Given the description of an element on the screen output the (x, y) to click on. 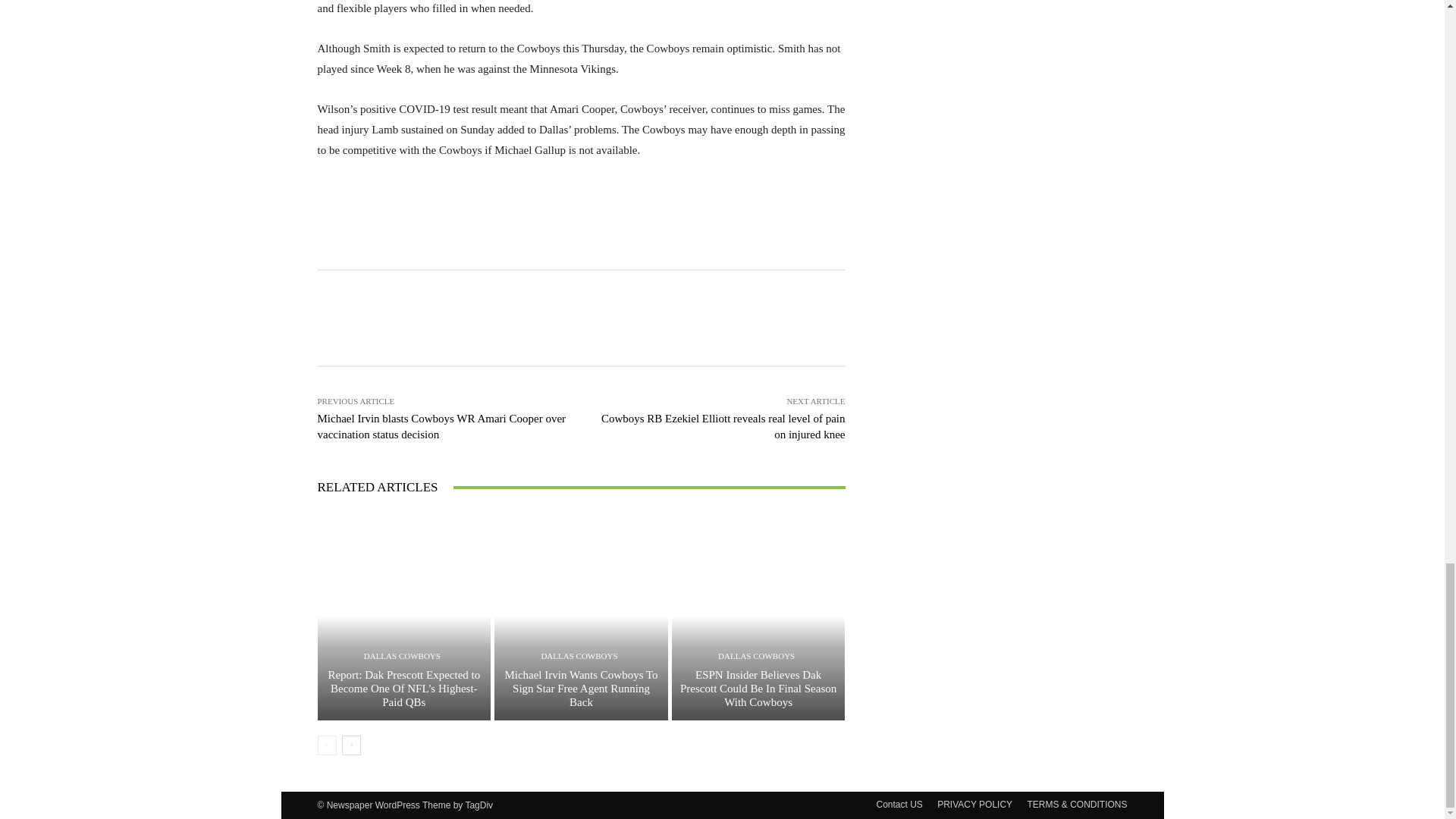
DALLAS COWBOYS (578, 655)
DALLAS COWBOYS (402, 655)
